Given the description of an element on the screen output the (x, y) to click on. 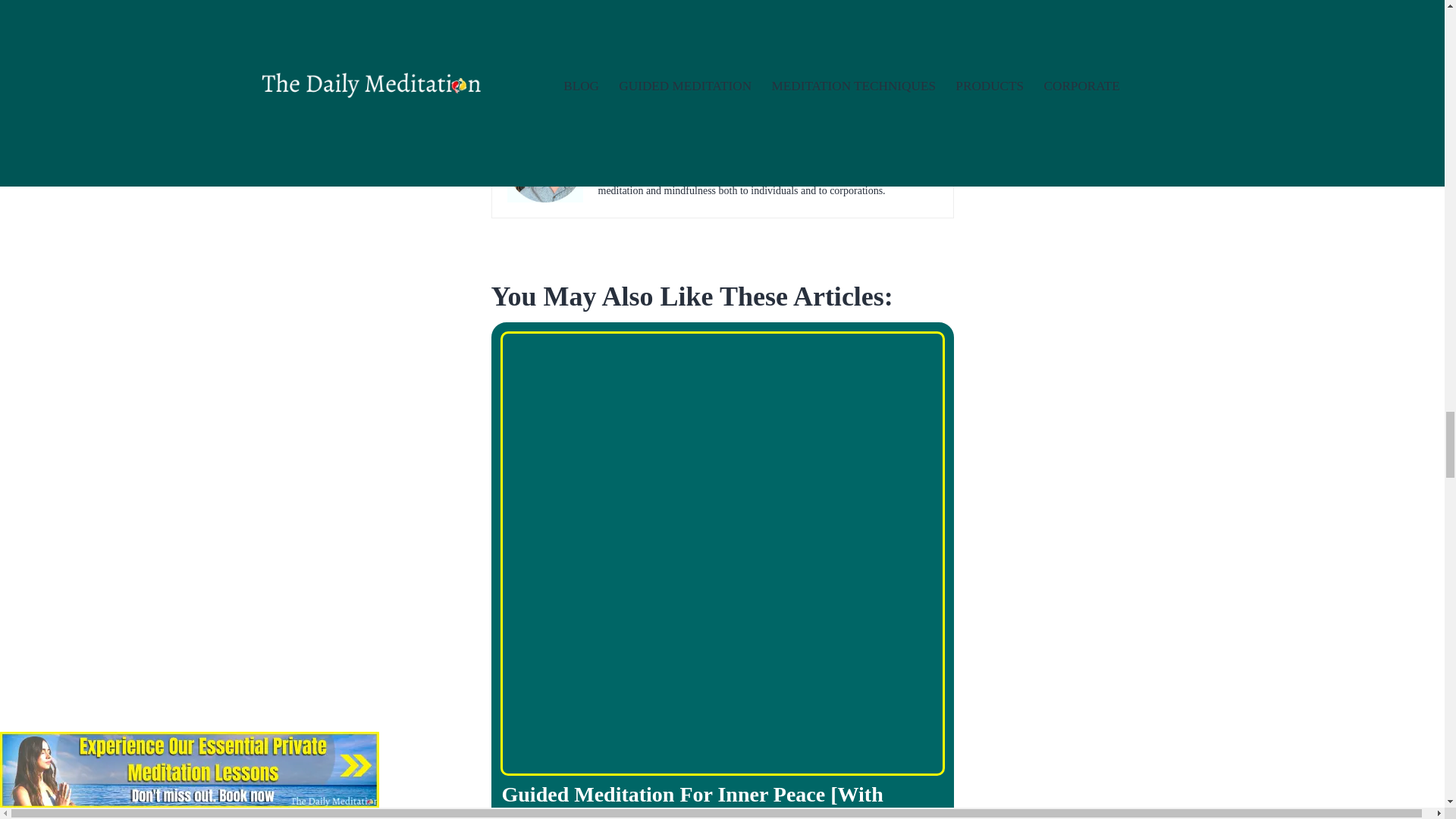
Subscribe (722, 45)
